Given the description of an element on the screen output the (x, y) to click on. 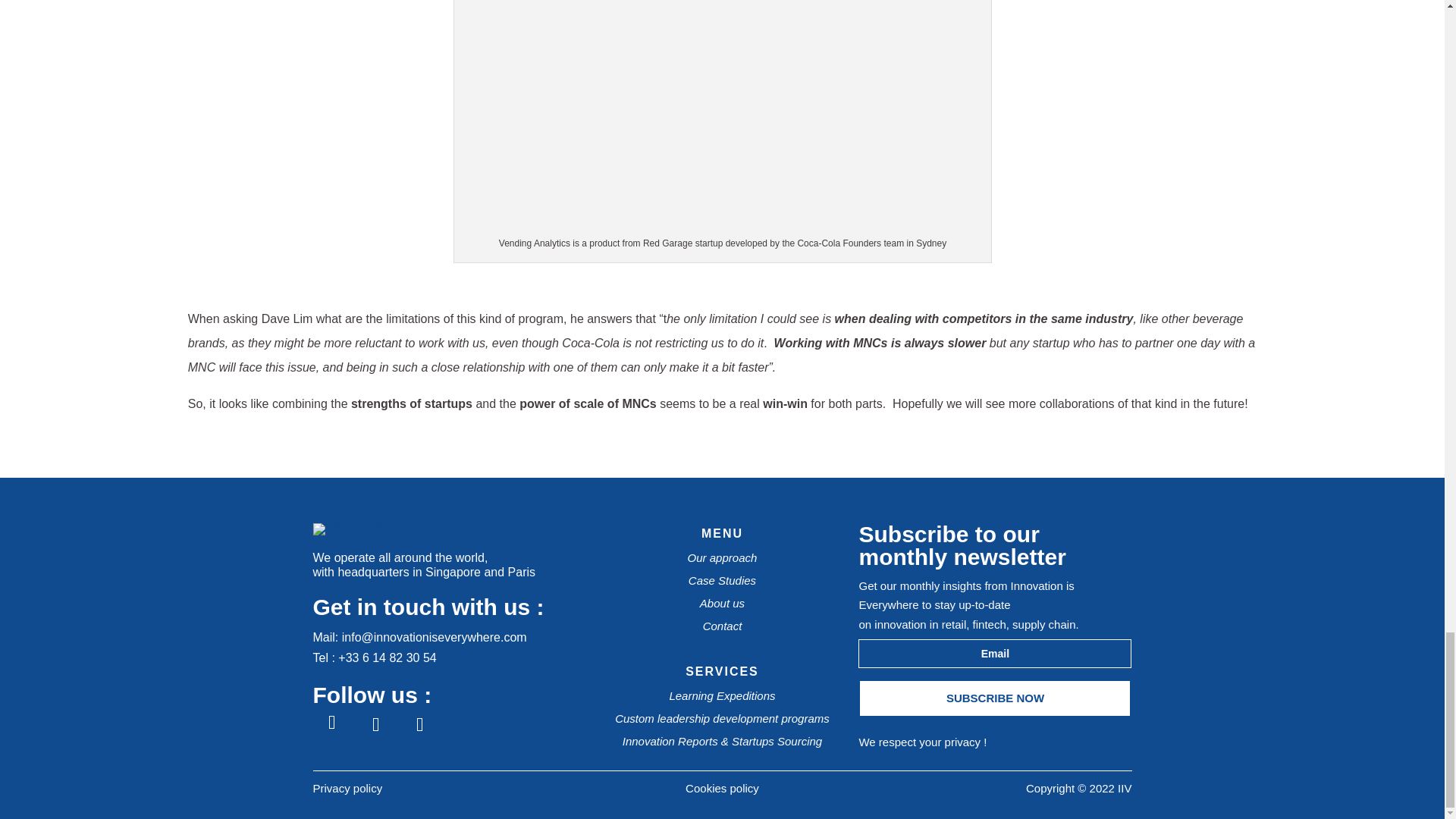
Custom leadership development programs (721, 717)
logo-iev-blanc (353, 522)
Follow on LinkedIn (375, 724)
Follow on Facebook (331, 724)
Follow on X (419, 724)
